Given the description of an element on the screen output the (x, y) to click on. 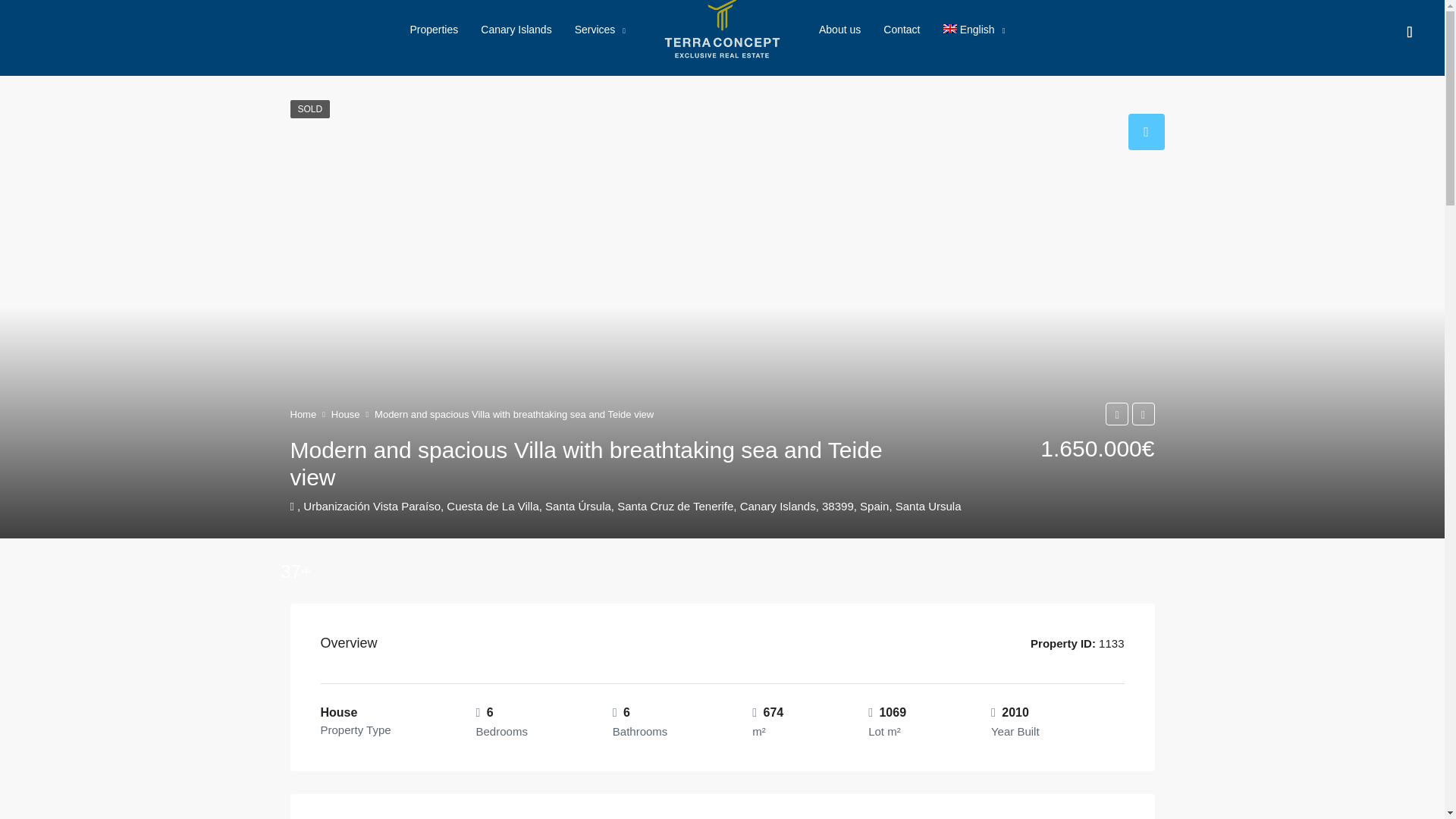
English (973, 30)
About us (840, 29)
Properties (432, 29)
Services (600, 30)
Contact (901, 29)
SOLD (309, 108)
English (973, 30)
Canary Islands (515, 29)
